Given the description of an element on the screen output the (x, y) to click on. 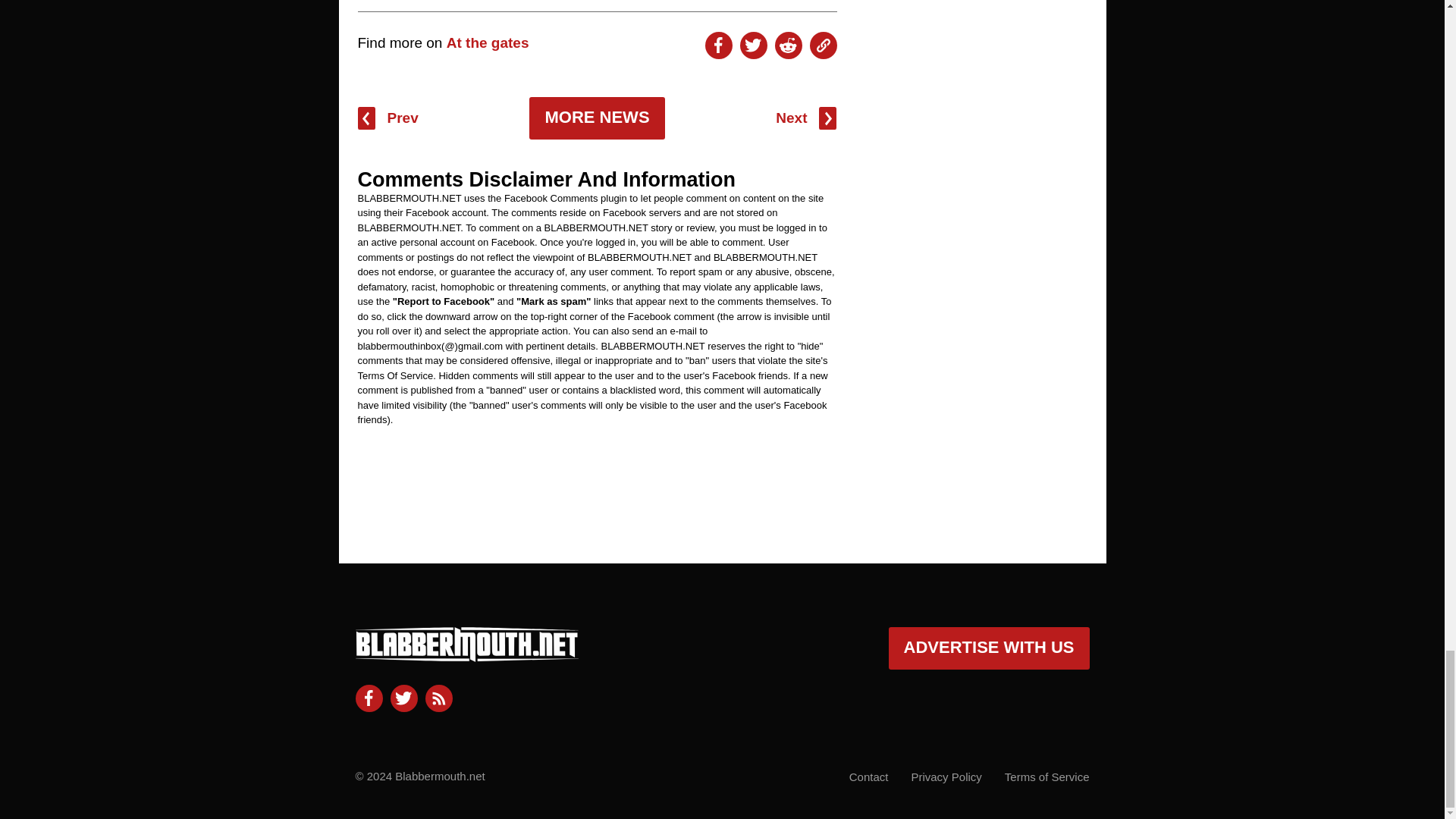
Share On Twitter (753, 44)
blabbermouth (466, 655)
Share On Reddit (788, 44)
Next (805, 118)
Copy To Clipboard (823, 44)
Share On Facebook (718, 44)
MORE NEWS (596, 118)
Prev (388, 118)
At the gates (487, 42)
